Given the description of an element on the screen output the (x, y) to click on. 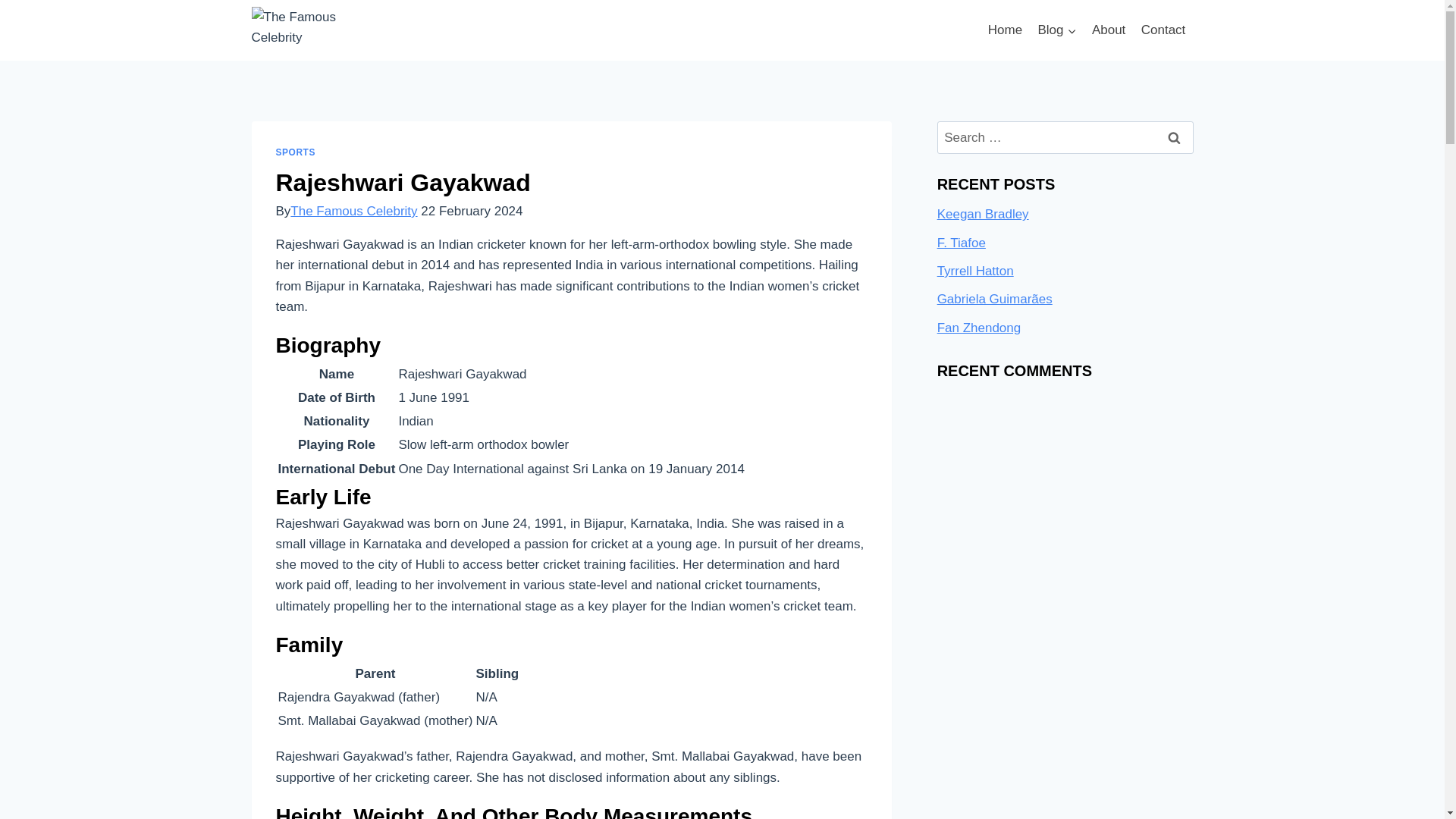
Contact (1163, 30)
Blog (1056, 30)
Search (1174, 137)
Home (1004, 30)
About (1109, 30)
The Famous Celebrity (352, 210)
Search (1174, 137)
SPORTS (295, 152)
